Given the description of an element on the screen output the (x, y) to click on. 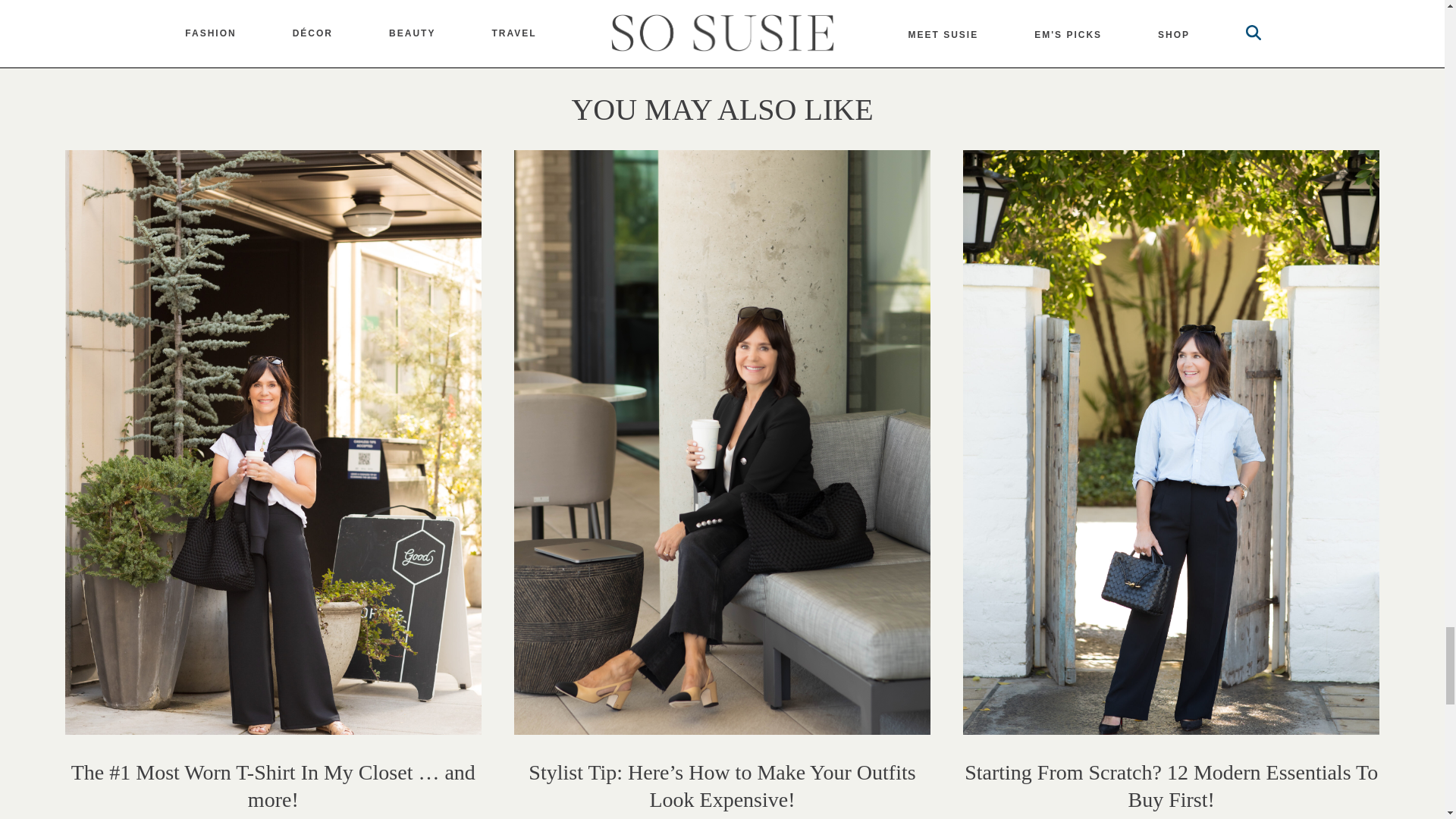
Starting From Scratch? 12 Modern Essentials To Buy First! (1170, 786)
